Given the description of an element on the screen output the (x, y) to click on. 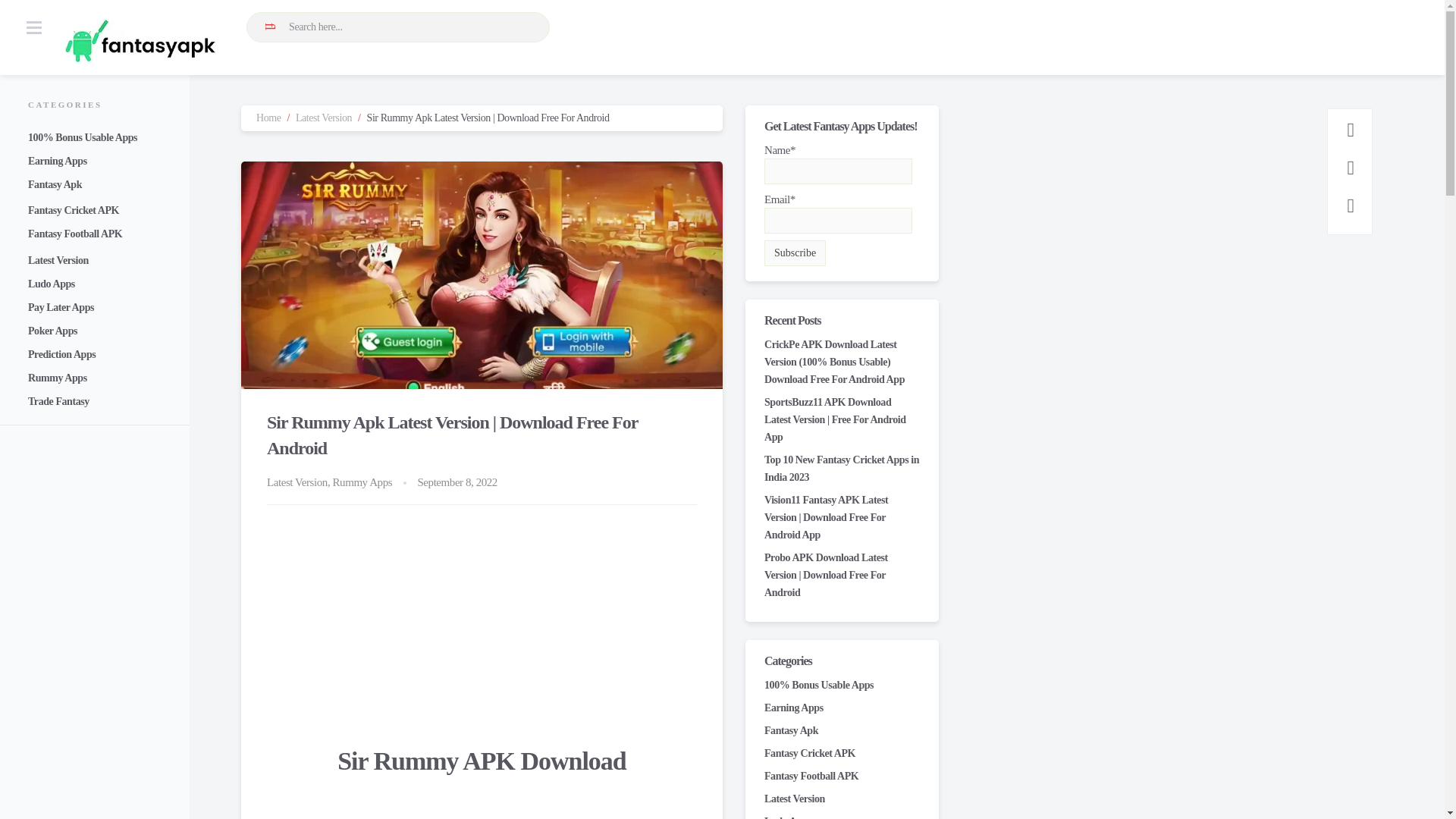
Fantasy Apk (791, 730)
Prediction Apps (61, 354)
Ludo Apps (51, 283)
Poker Apps (52, 330)
Advertisement (481, 636)
Fantasy Football APK (811, 776)
View all posts in Latest Version (296, 481)
Latest Version (794, 798)
Home (268, 117)
Top 10 New Fantasy Cricket Apps in India 2023 (841, 468)
